Given the description of an element on the screen output the (x, y) to click on. 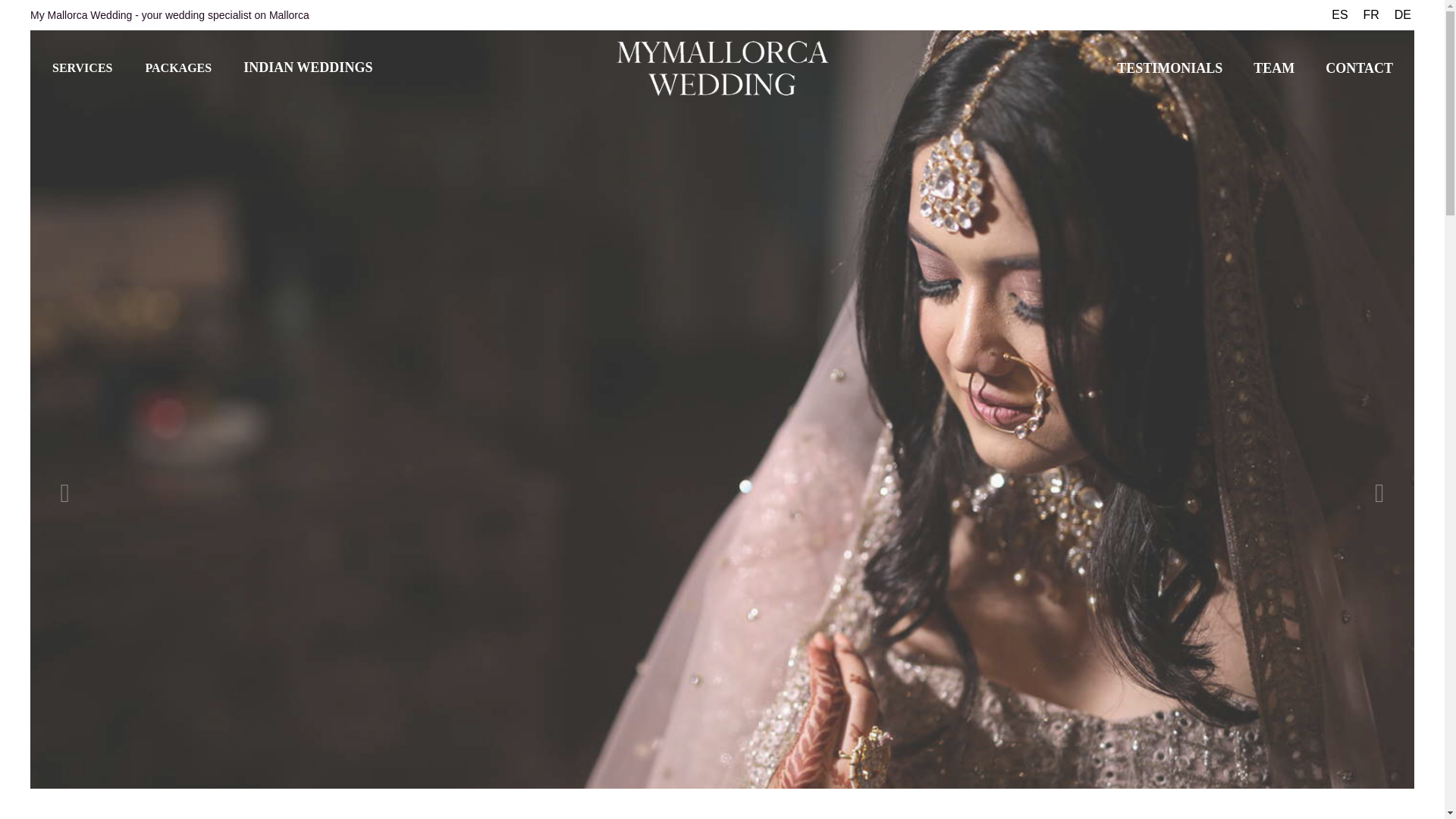
FR (1370, 15)
PACKAGES (178, 67)
Deutsch (1402, 15)
TEAM (1273, 67)
Francais (1370, 15)
INDIAN WEDDINGS (307, 67)
TESTIMONIALS (1169, 67)
DE (1402, 15)
Next (1379, 494)
CONTACT (1358, 67)
ES (1339, 15)
Previous (64, 494)
SERVICES (81, 67)
